Given the description of an element on the screen output the (x, y) to click on. 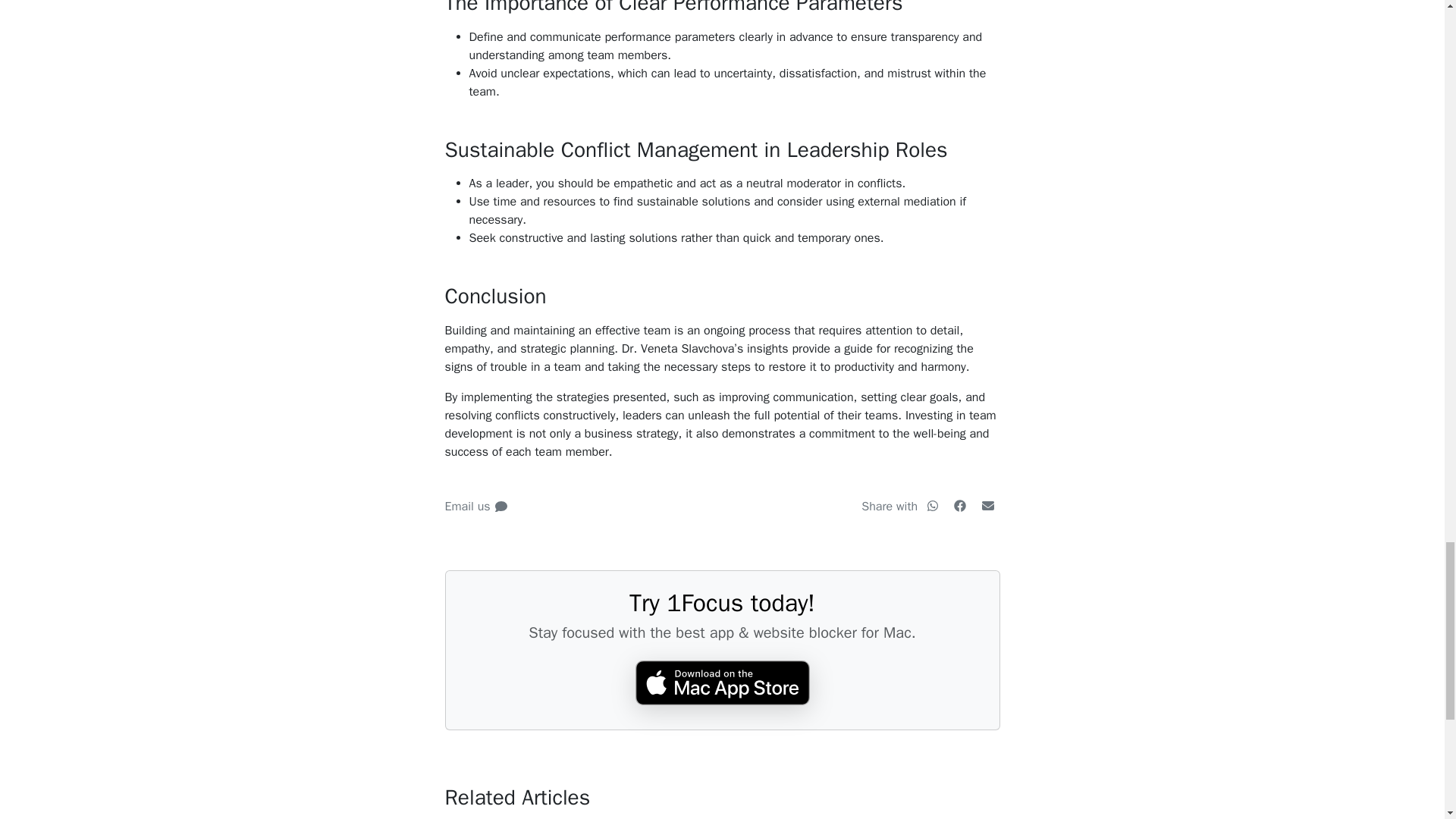
Facebook (961, 506)
Facebook (959, 505)
WhatsApp (934, 506)
Email (986, 505)
Email us (475, 506)
